Given the description of an element on the screen output the (x, y) to click on. 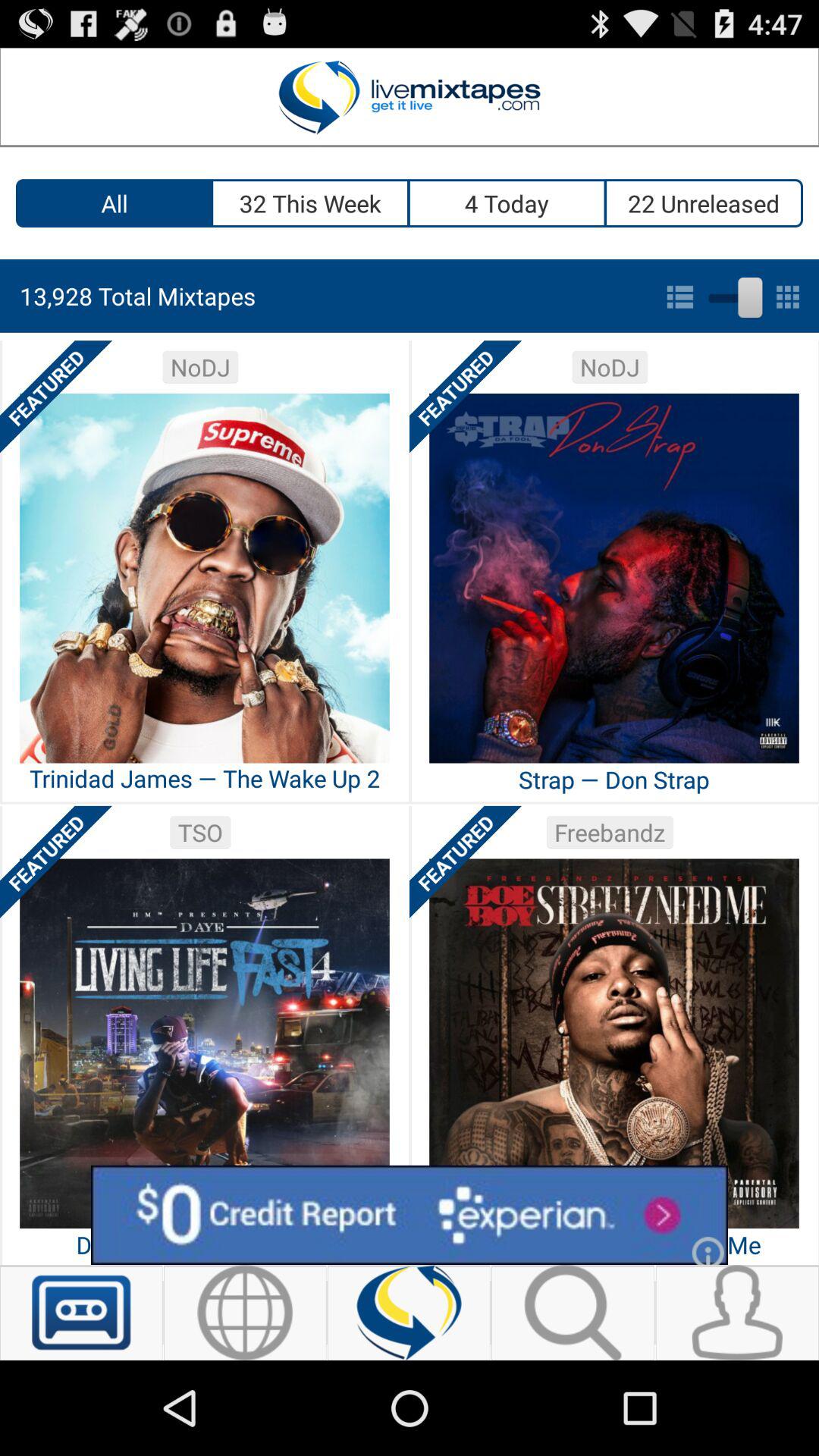
turn on the icon to the right of the 32 this week app (507, 203)
